Given the description of an element on the screen output the (x, y) to click on. 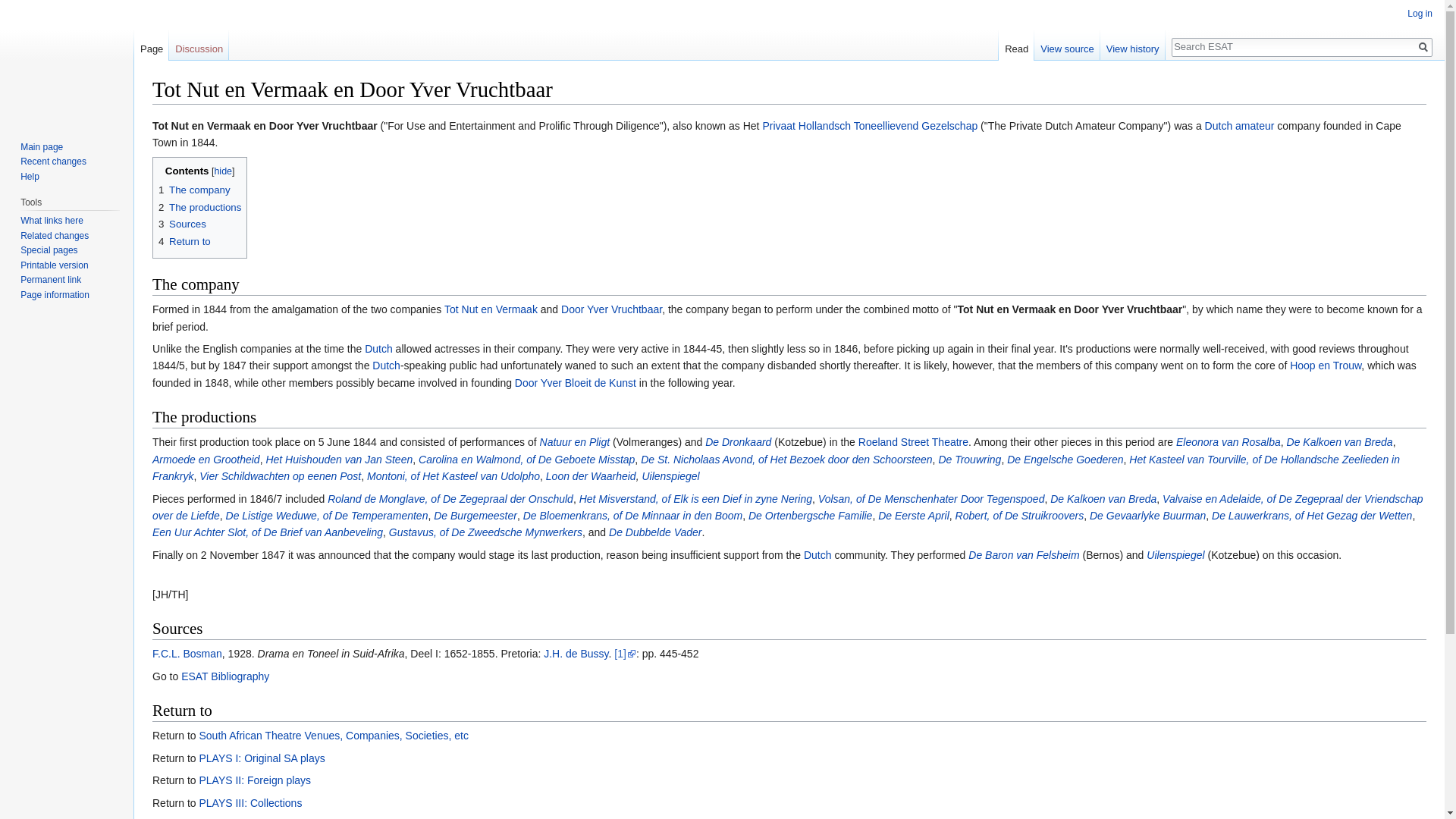
Go (1423, 46)
Tot Nut en Vermaak en Door Yver Vruchtbaar (264, 125)
Eleonora van Rosalba (1228, 441)
3 Sources (182, 224)
Tot Nut en Vermaak (490, 309)
Hoop en Trouw (1325, 365)
De Trouwring (969, 459)
Tot Nut en Vermaak en Door Yver Vruchtbaar (1070, 309)
